Given the description of an element on the screen output the (x, y) to click on. 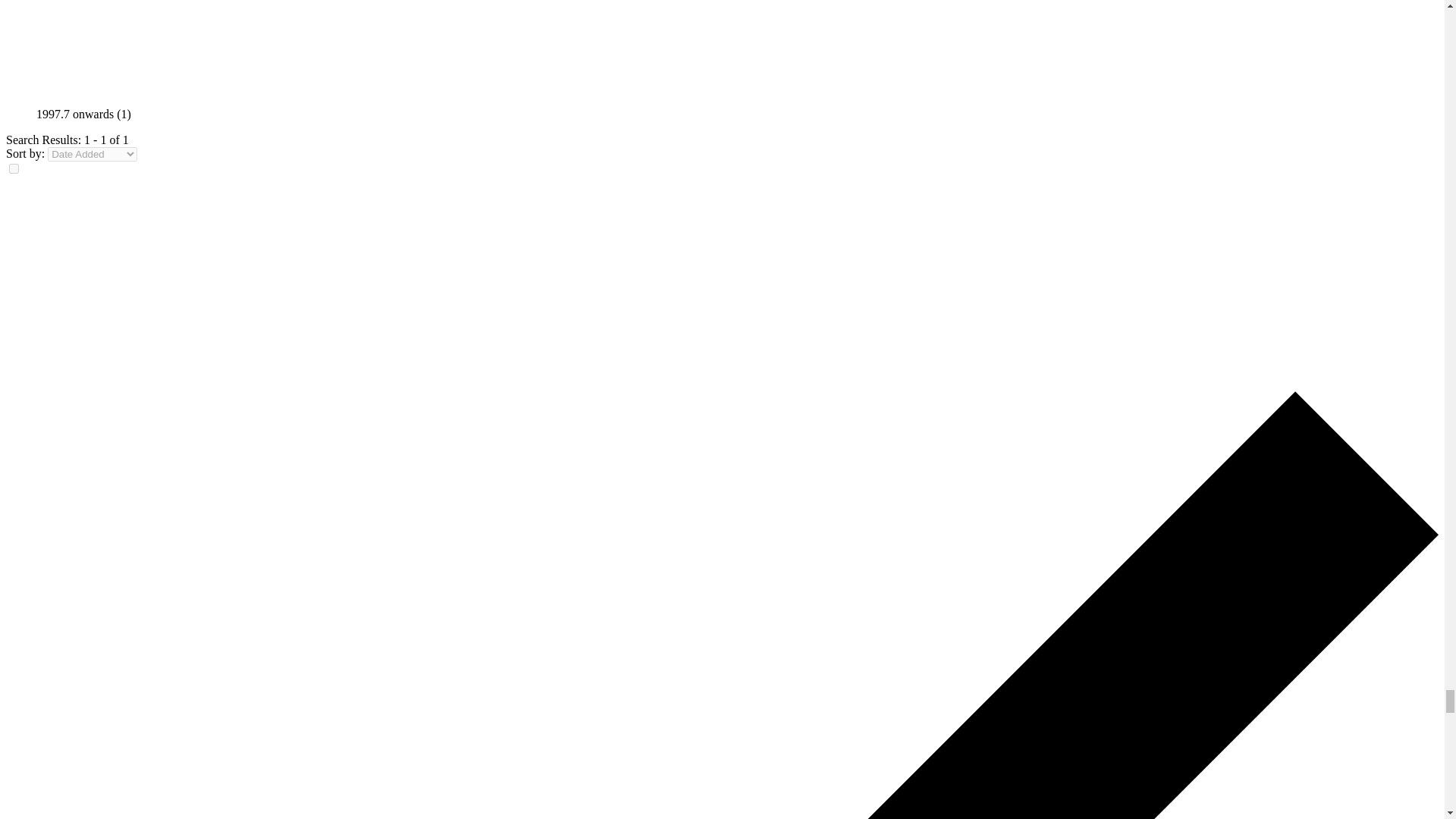
on (13, 168)
